Given the description of an element on the screen output the (x, y) to click on. 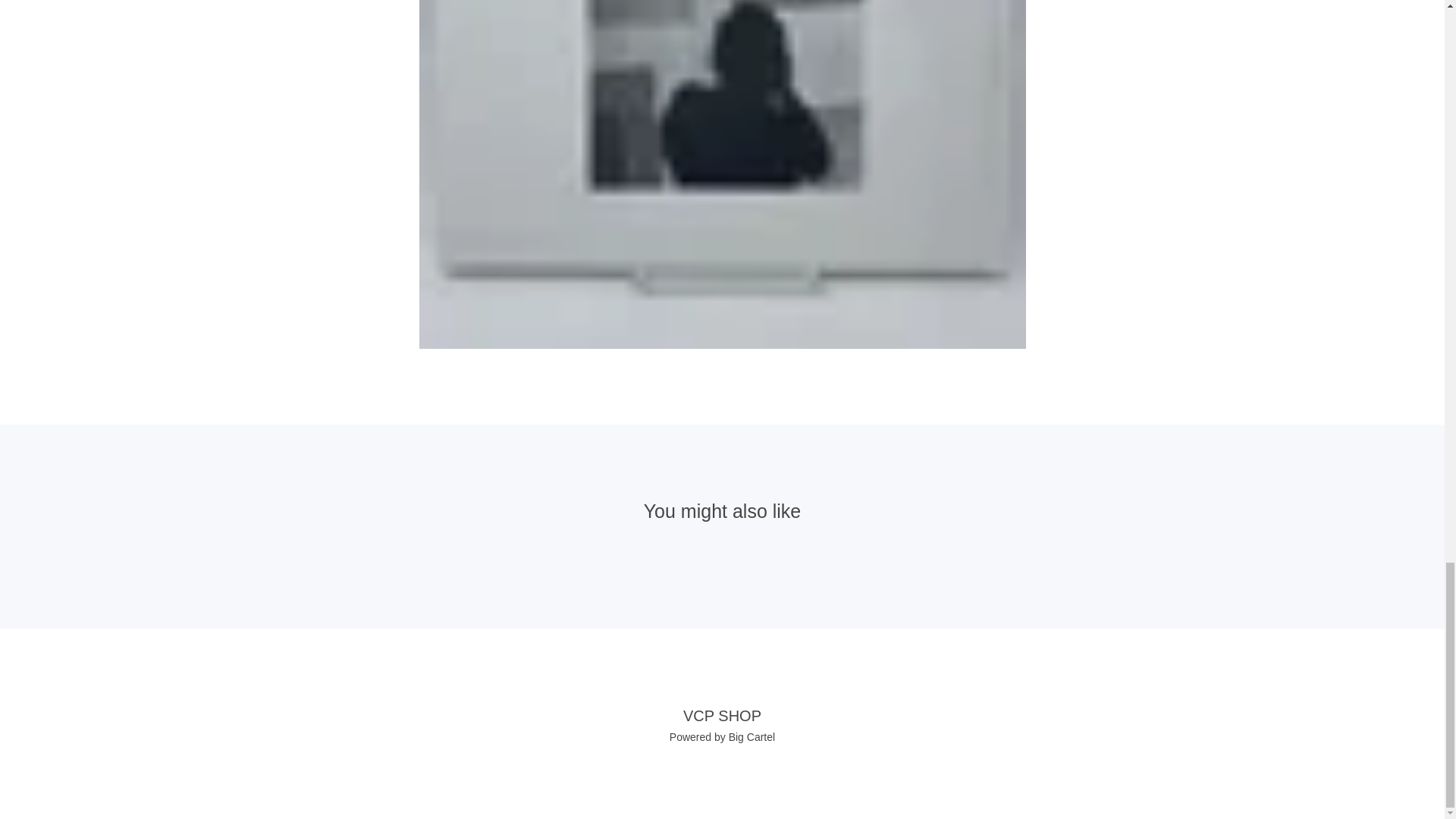
Powered by Big Cartel (721, 736)
